Given the description of an element on the screen output the (x, y) to click on. 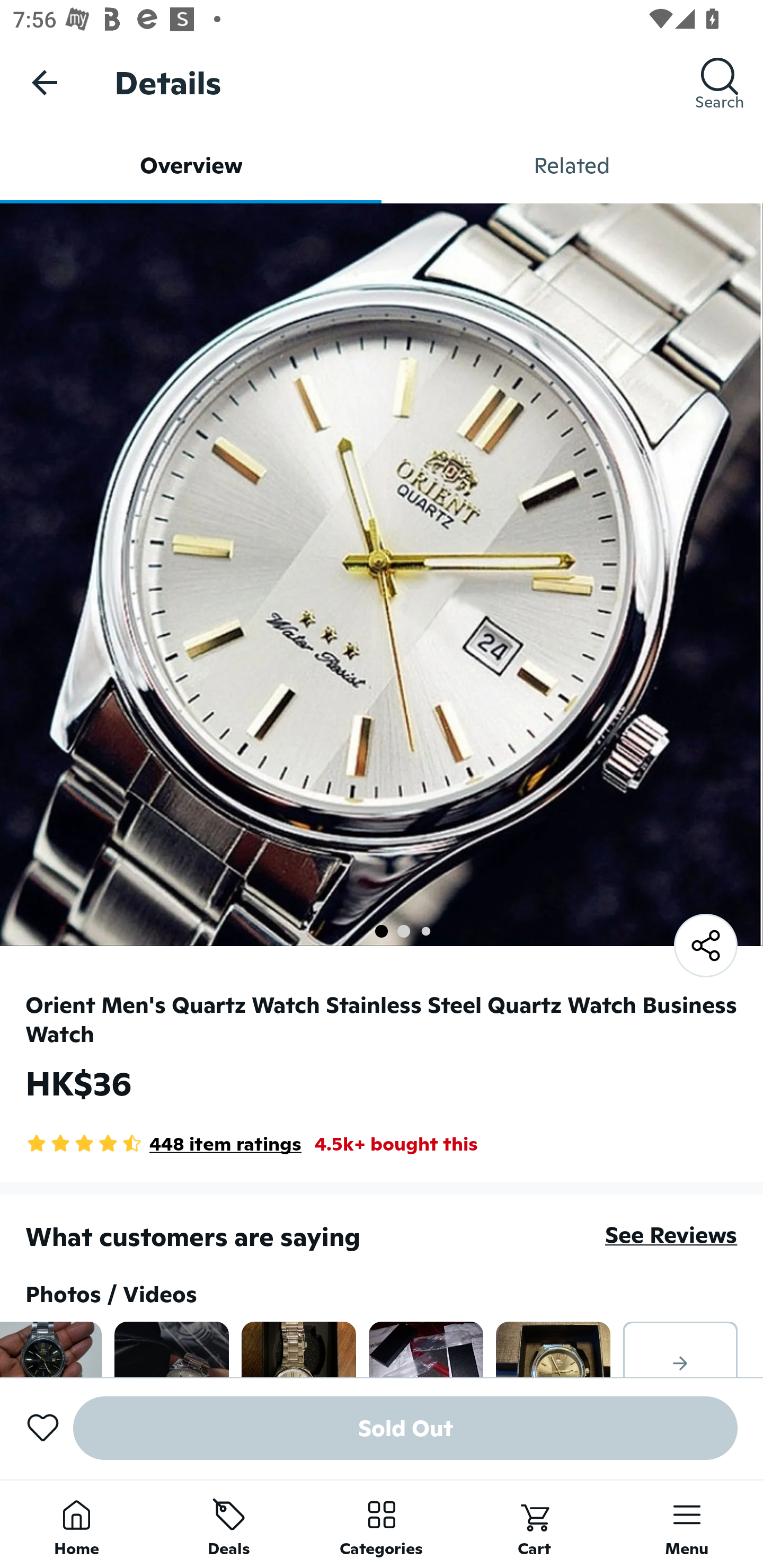
Navigate up (44, 82)
Search (719, 82)
Related (572, 165)
4.6 Star Rating 448 item ratings (163, 1143)
See Reviews (671, 1234)
Right arrow (680, 1348)
Sold Out (405, 1428)
Home (76, 1523)
Deals (228, 1523)
Categories (381, 1523)
Cart (533, 1523)
Menu (686, 1523)
